Given the description of an element on the screen output the (x, y) to click on. 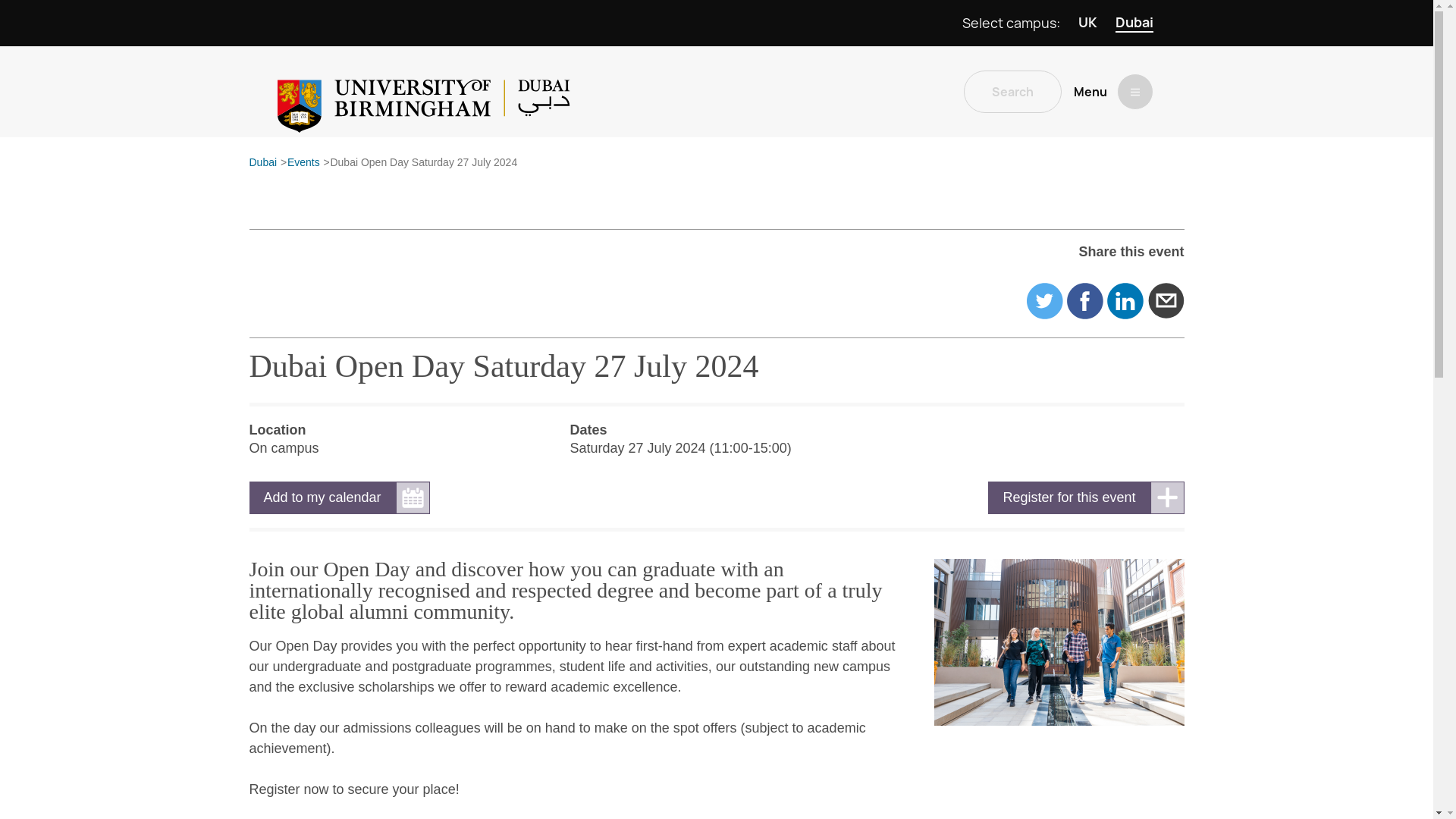
Share on Twitter (1044, 300)
Share in LinkedIn (1124, 300)
Dubai (262, 163)
Share on linkedin (1124, 300)
Share on Facebook (1085, 300)
Events (303, 163)
Dubai Open Day Saturday 27 July 2024 (423, 163)
Search (1012, 91)
Dubai (1134, 23)
Register for this event (1085, 497)
Share on Twitter (1044, 300)
Share on email (1166, 300)
Share on facebook (1085, 300)
UK (1087, 23)
Add to my calendar (338, 497)
